Given the description of an element on the screen output the (x, y) to click on. 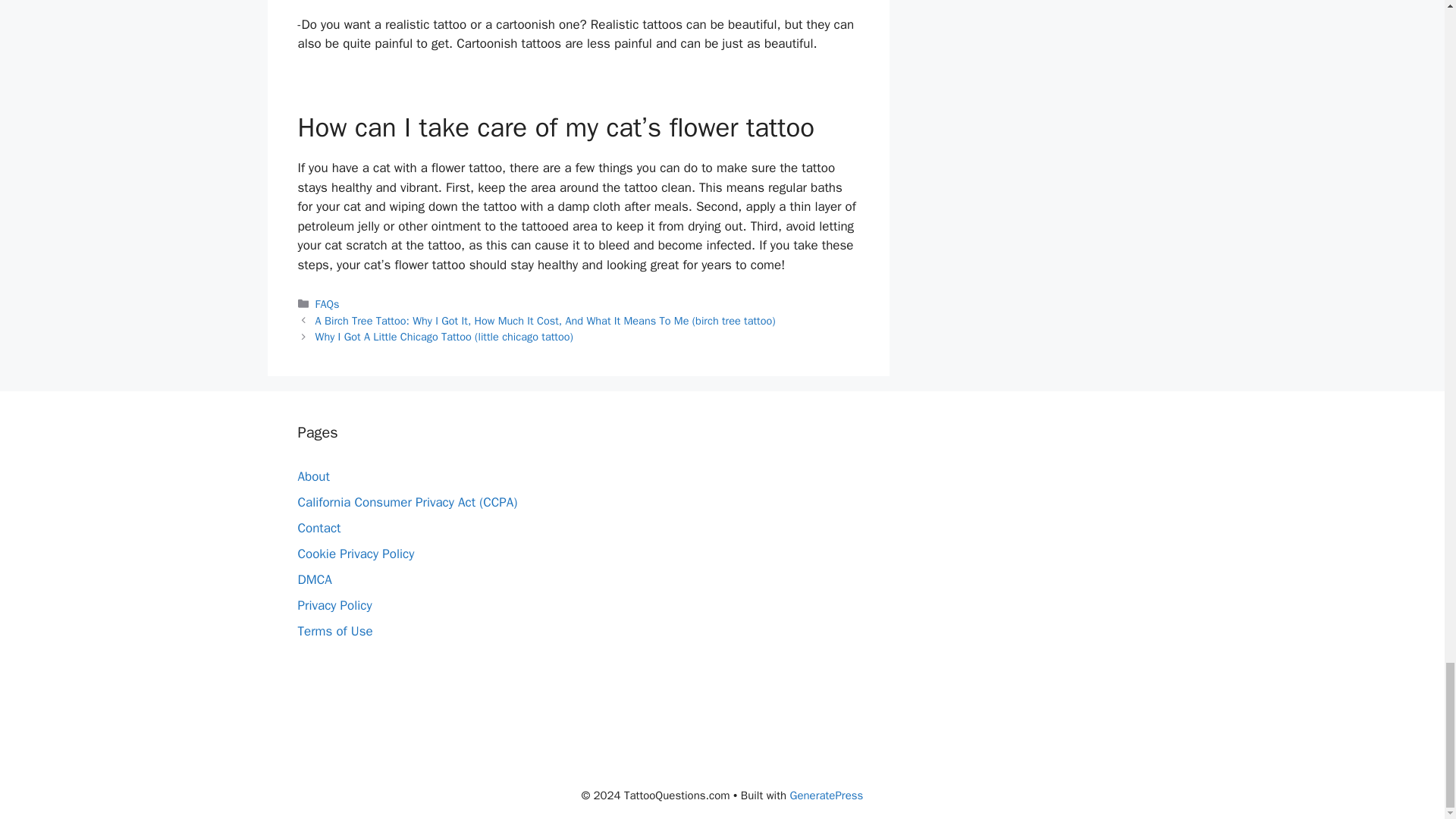
Next (444, 336)
FAQs (327, 304)
Previous (545, 320)
